Given the description of an element on the screen output the (x, y) to click on. 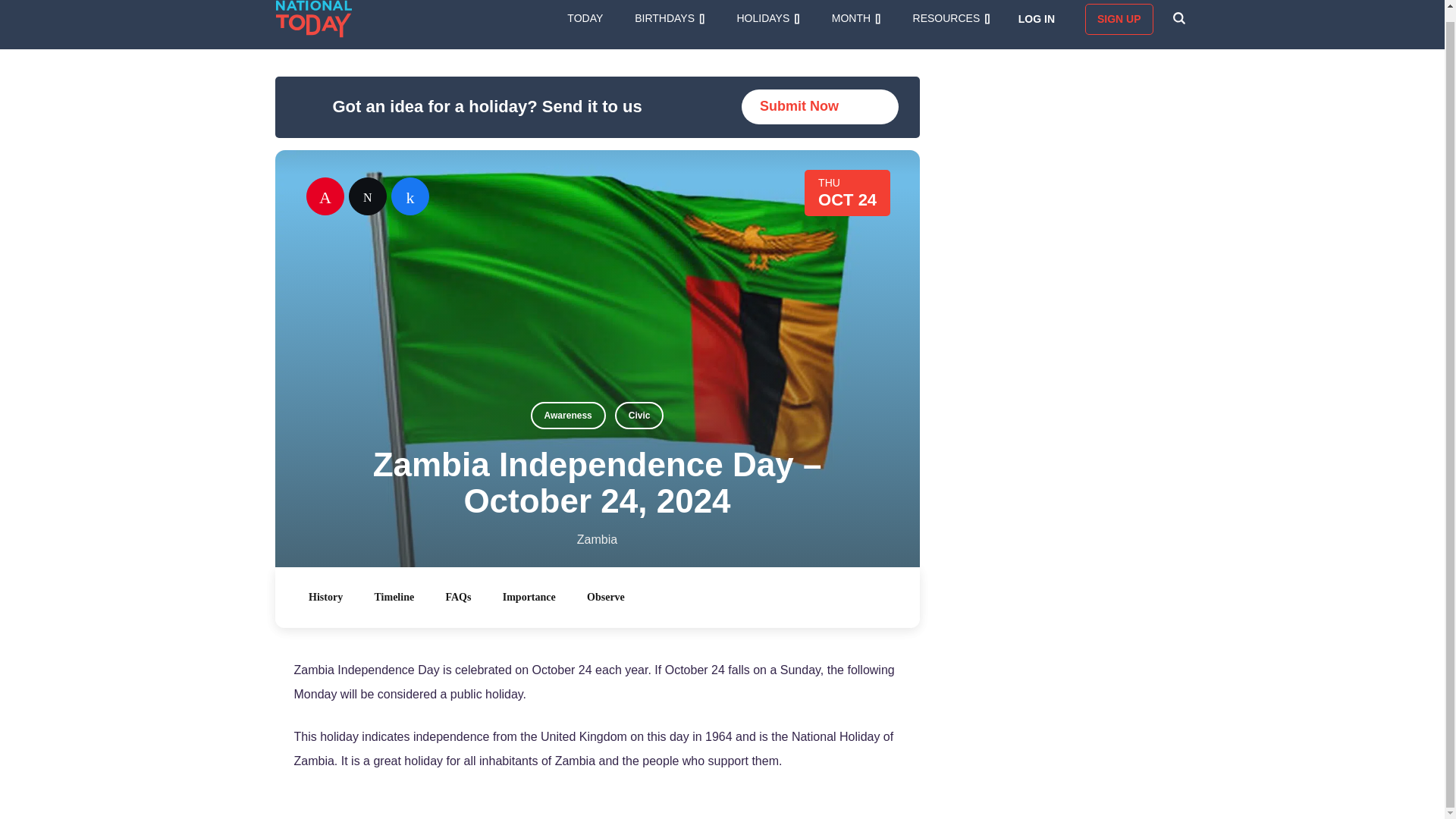
MONTH (855, 18)
National Today (314, 18)
BIRTHDAYS (669, 18)
TODAY (584, 18)
SEARCH (1178, 18)
National Today (314, 18)
HOLIDAYS (767, 18)
